Given the description of an element on the screen output the (x, y) to click on. 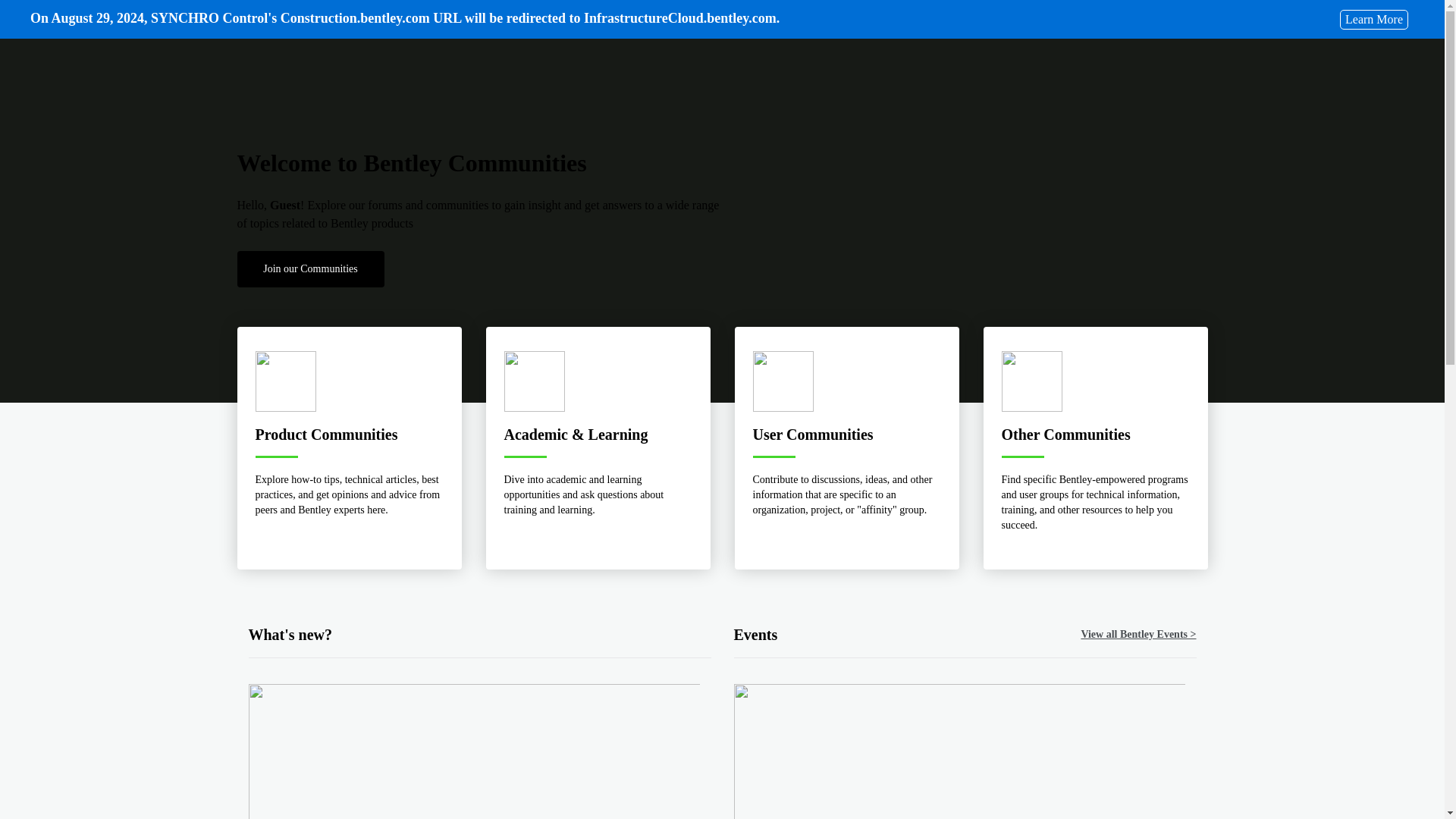
Learn More (1373, 18)
Join our Communities (309, 268)
Learn More (1373, 18)
